Given the description of an element on the screen output the (x, y) to click on. 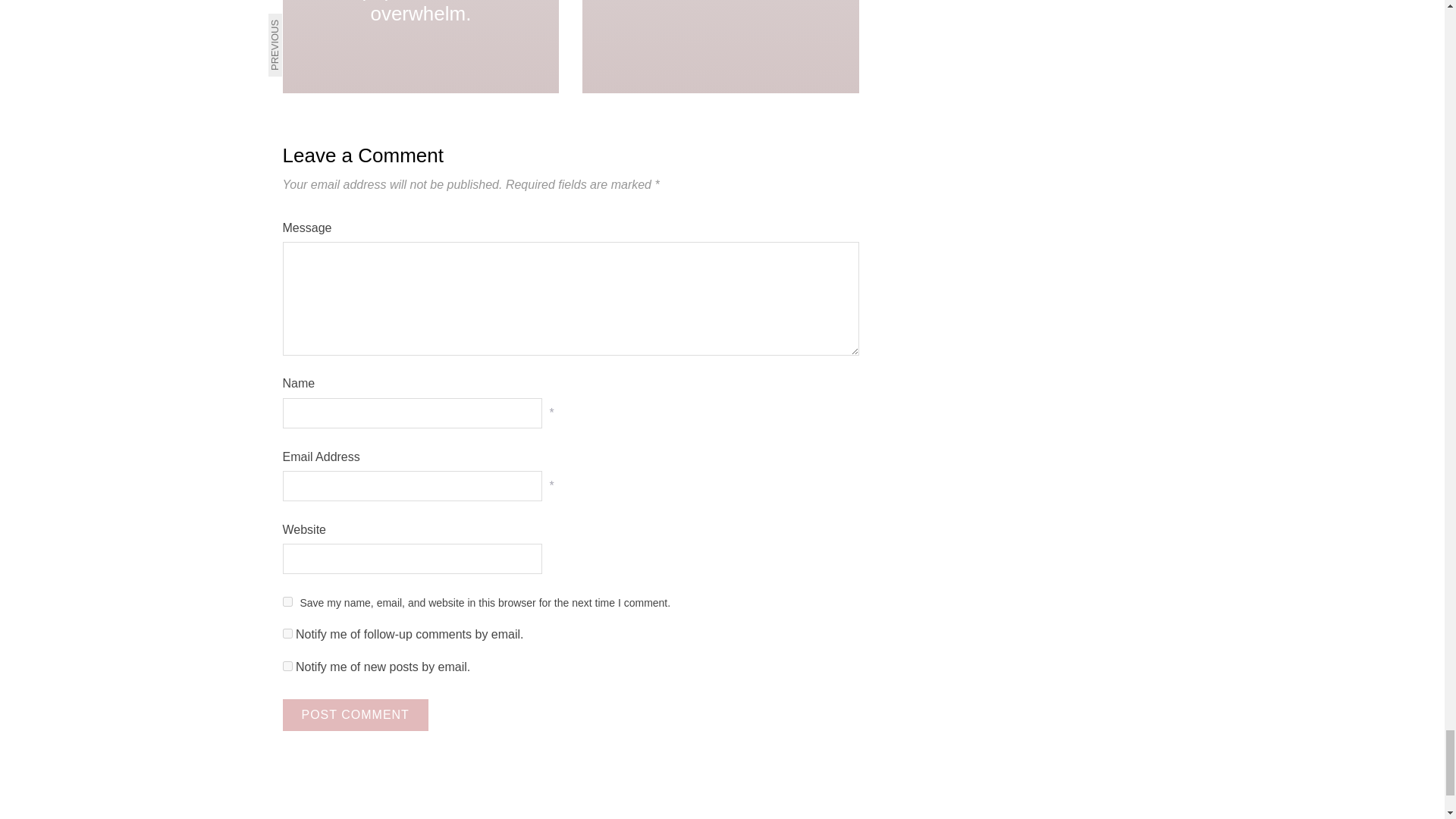
yes (287, 601)
Post Comment (355, 715)
subscribe (287, 633)
subscribe (287, 665)
